Given the description of an element on the screen output the (x, y) to click on. 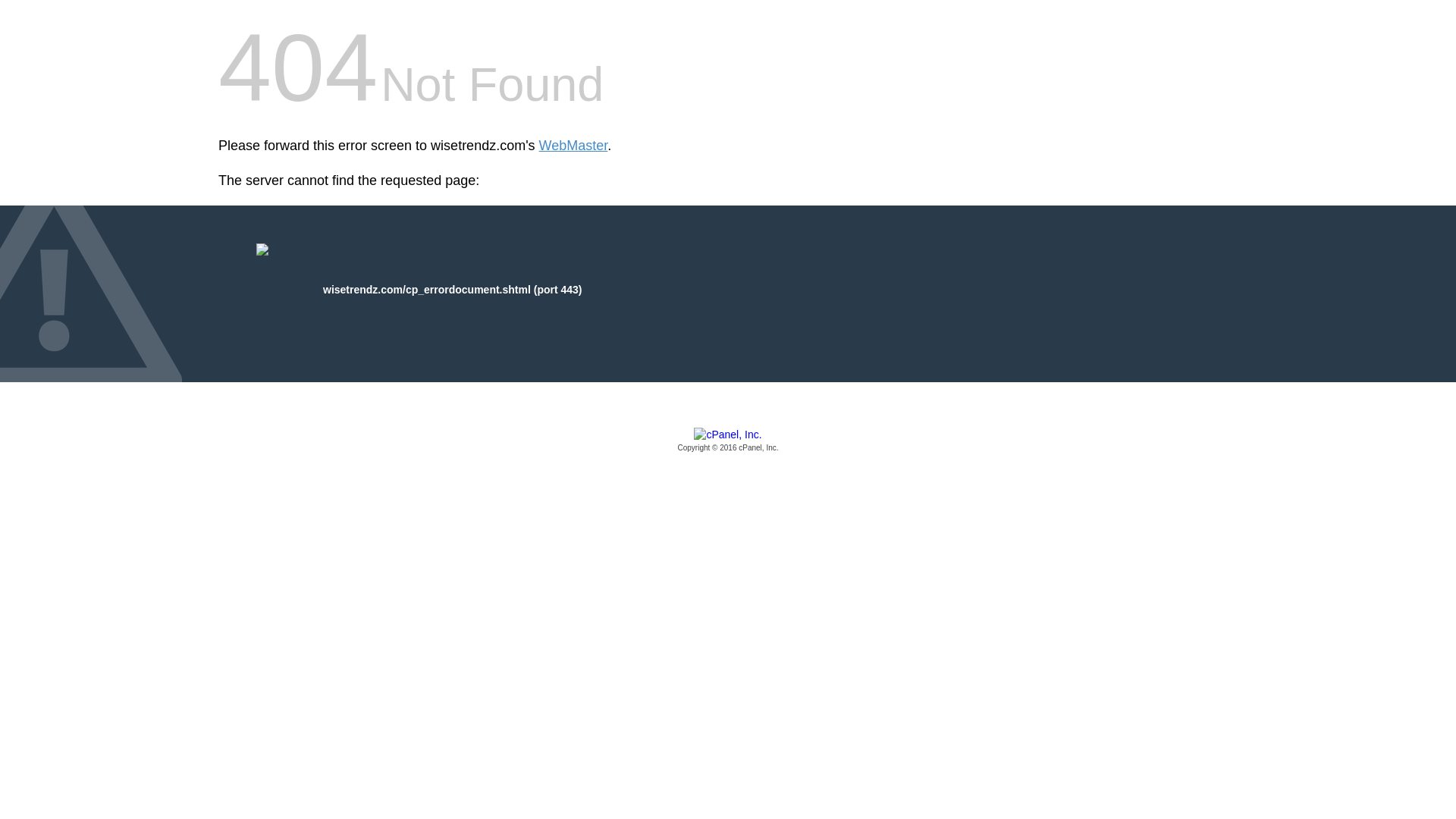
cPanel, Inc. (727, 440)
WebMaster (573, 145)
